Given the description of an element on the screen output the (x, y) to click on. 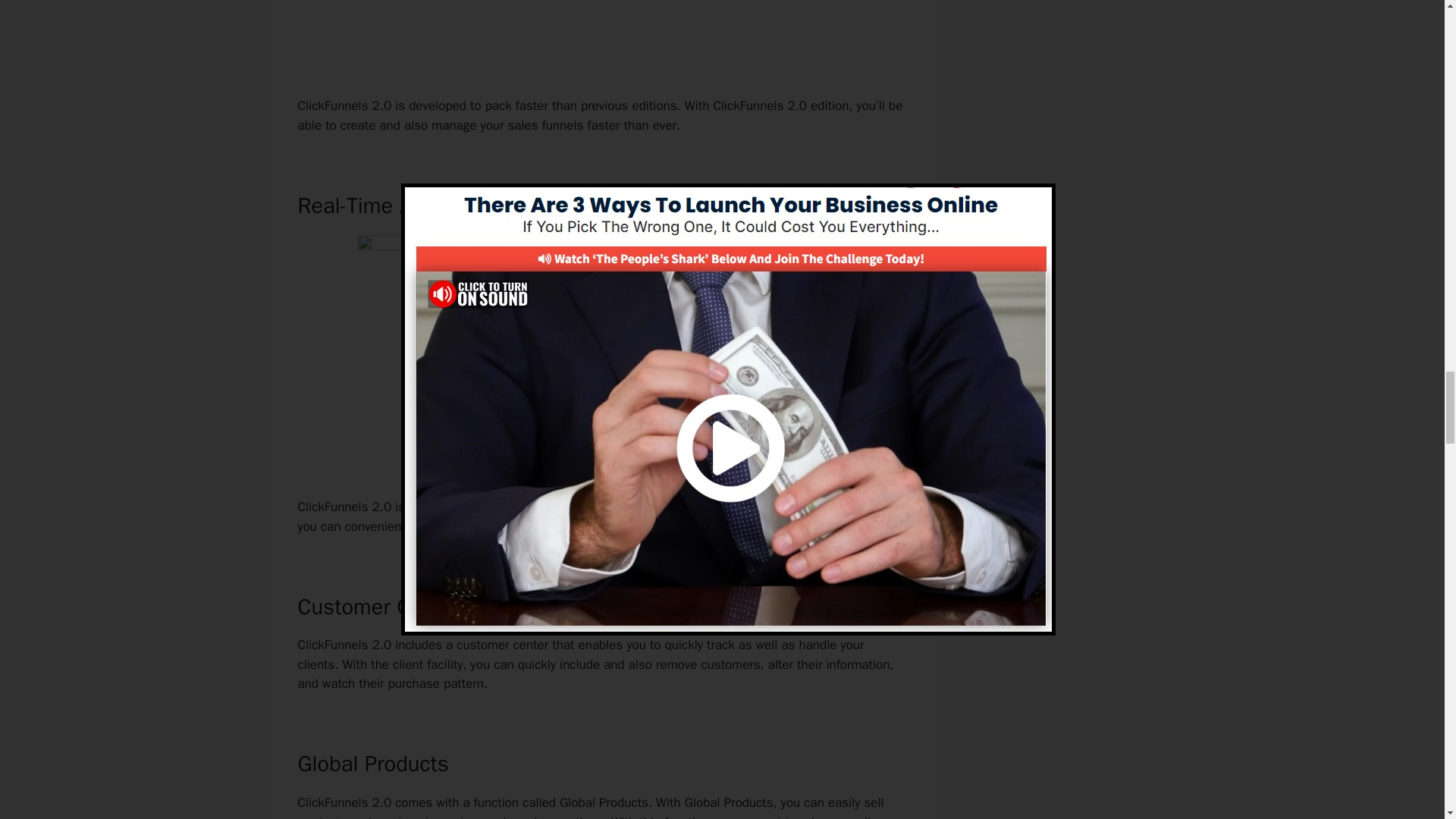
Statistics (767, 506)
products and services (358, 816)
